Given the description of an element on the screen output the (x, y) to click on. 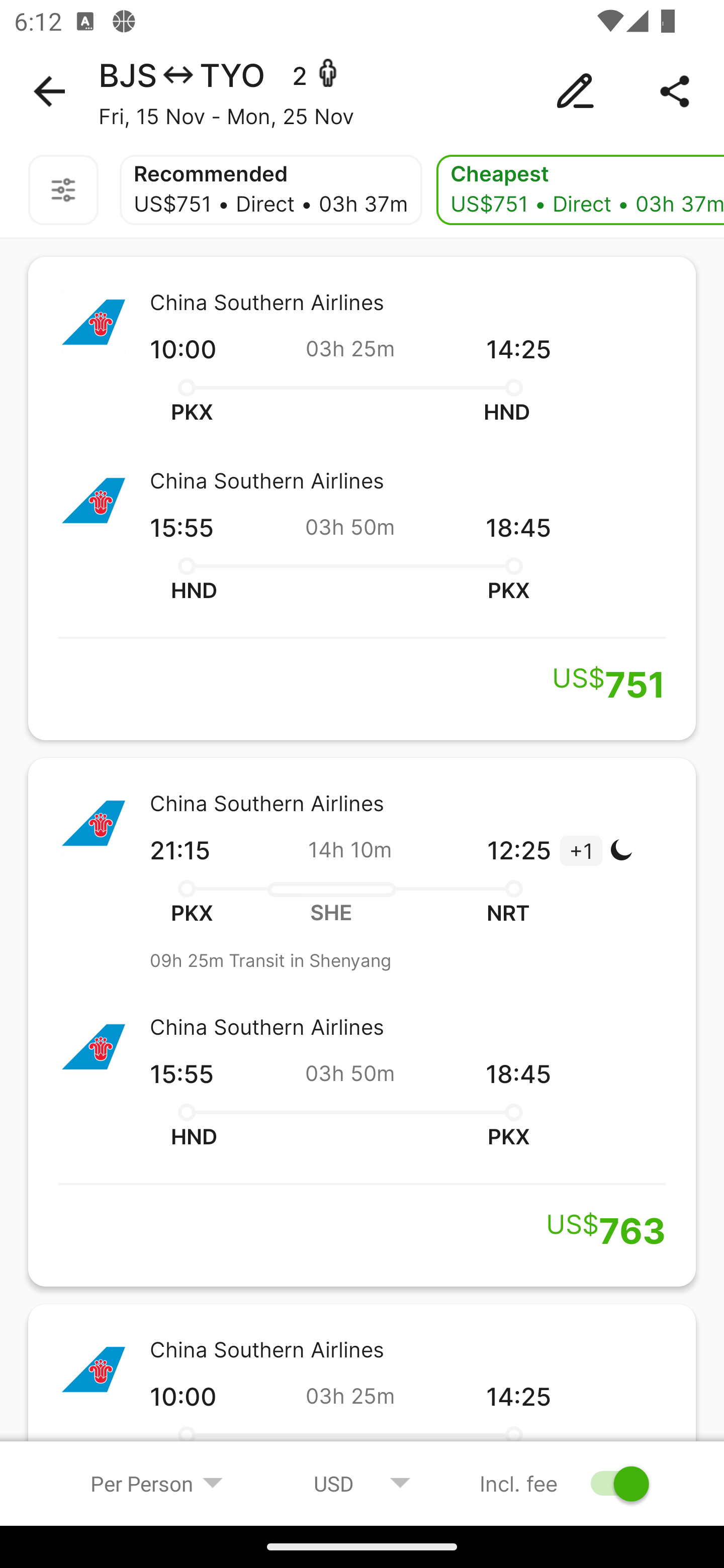
BJS TYO   2 - Fri, 15 Nov - Mon, 25 Nov (361, 91)
Recommended  US$751 • Direct • 03h 37m (270, 190)
Cheapest US$751 • Direct • 03h 37m (580, 190)
Per Person (156, 1482)
USD (361, 1482)
